Given the description of an element on the screen output the (x, y) to click on. 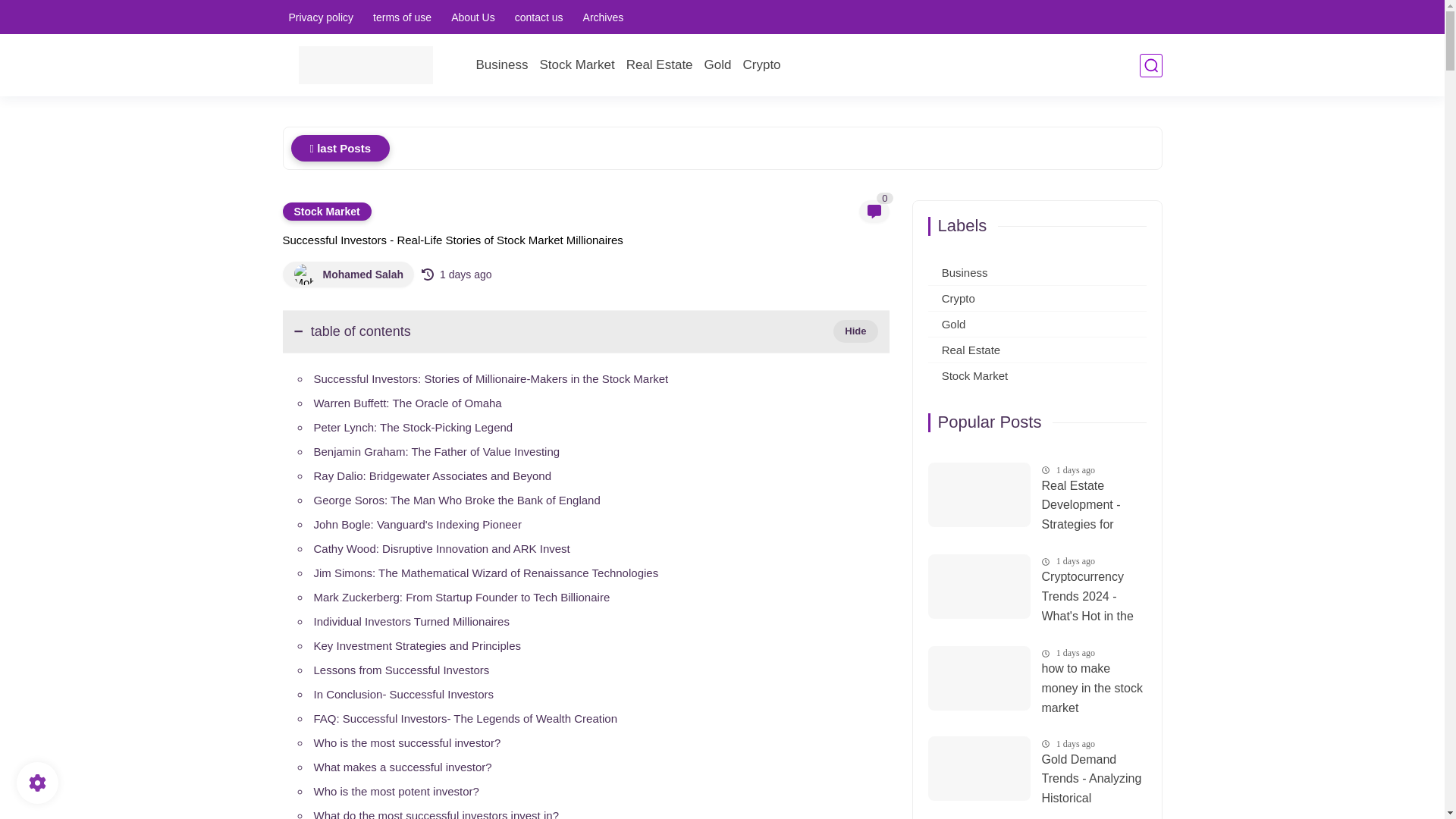
Crypto (761, 64)
Lessons from Successful Investors (401, 668)
Key Investment Strategies and Principles (417, 644)
Real Estate (659, 64)
Peter Lynch: The Stock-Picking Legend (413, 426)
Real Estate (659, 64)
George Soros: The Man Who Broke the Bank of England (456, 499)
Mark Zuckerberg: From Startup Founder to Tech Billionaire (462, 595)
Individual Investors Turned Millionaires (411, 620)
Stock Market (326, 211)
Business (502, 64)
FAQ: Successful Investors- The Legends of Wealth Creation (465, 717)
Who is the most successful investor? (407, 741)
About Us (472, 17)
contact us (538, 17)
